Given the description of an element on the screen output the (x, y) to click on. 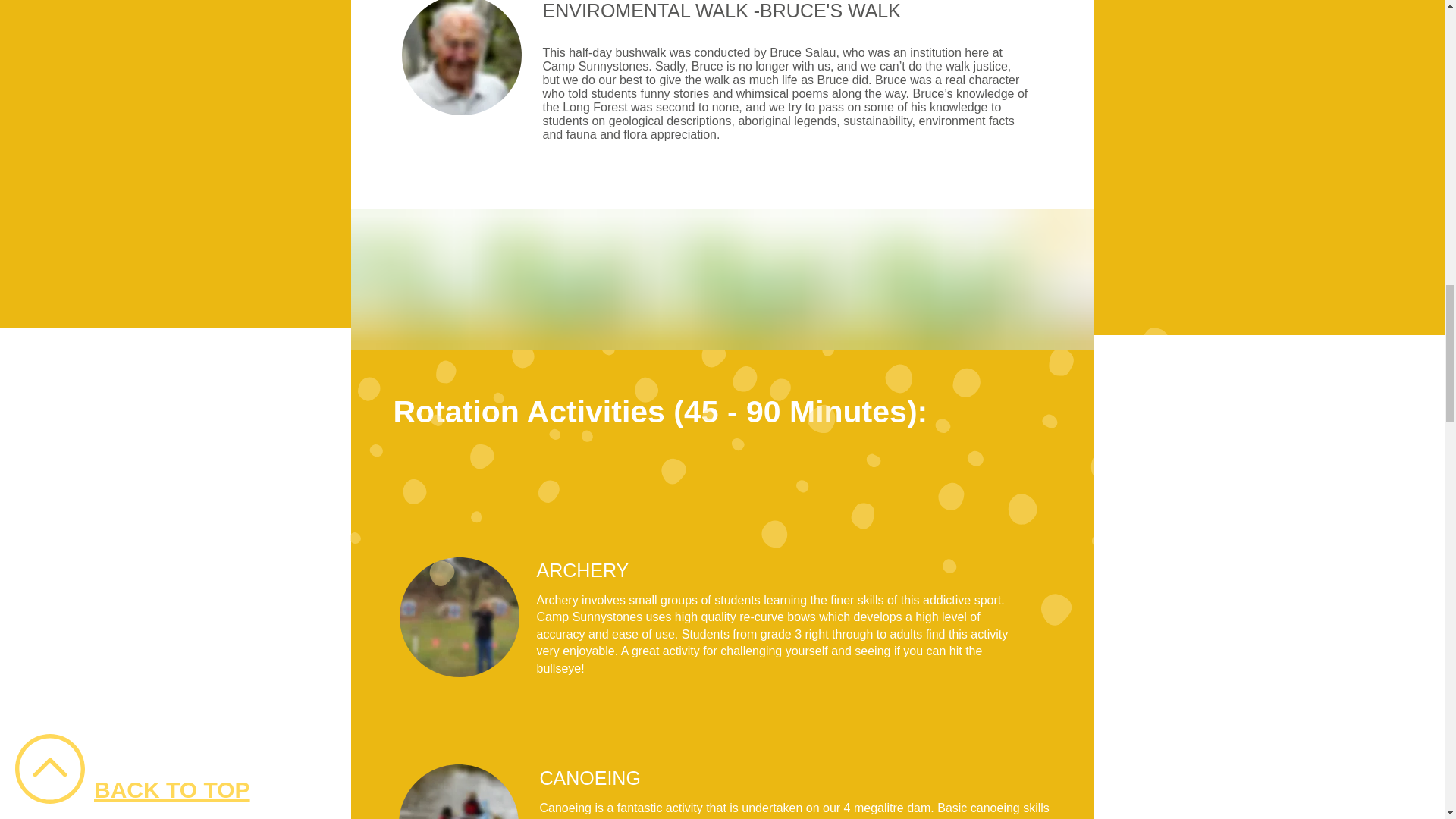
Canoeing.jpeg (458, 791)
Canoeing.jpeg (461, 57)
Canoeing.jpeg (458, 617)
